Given the description of an element on the screen output the (x, y) to click on. 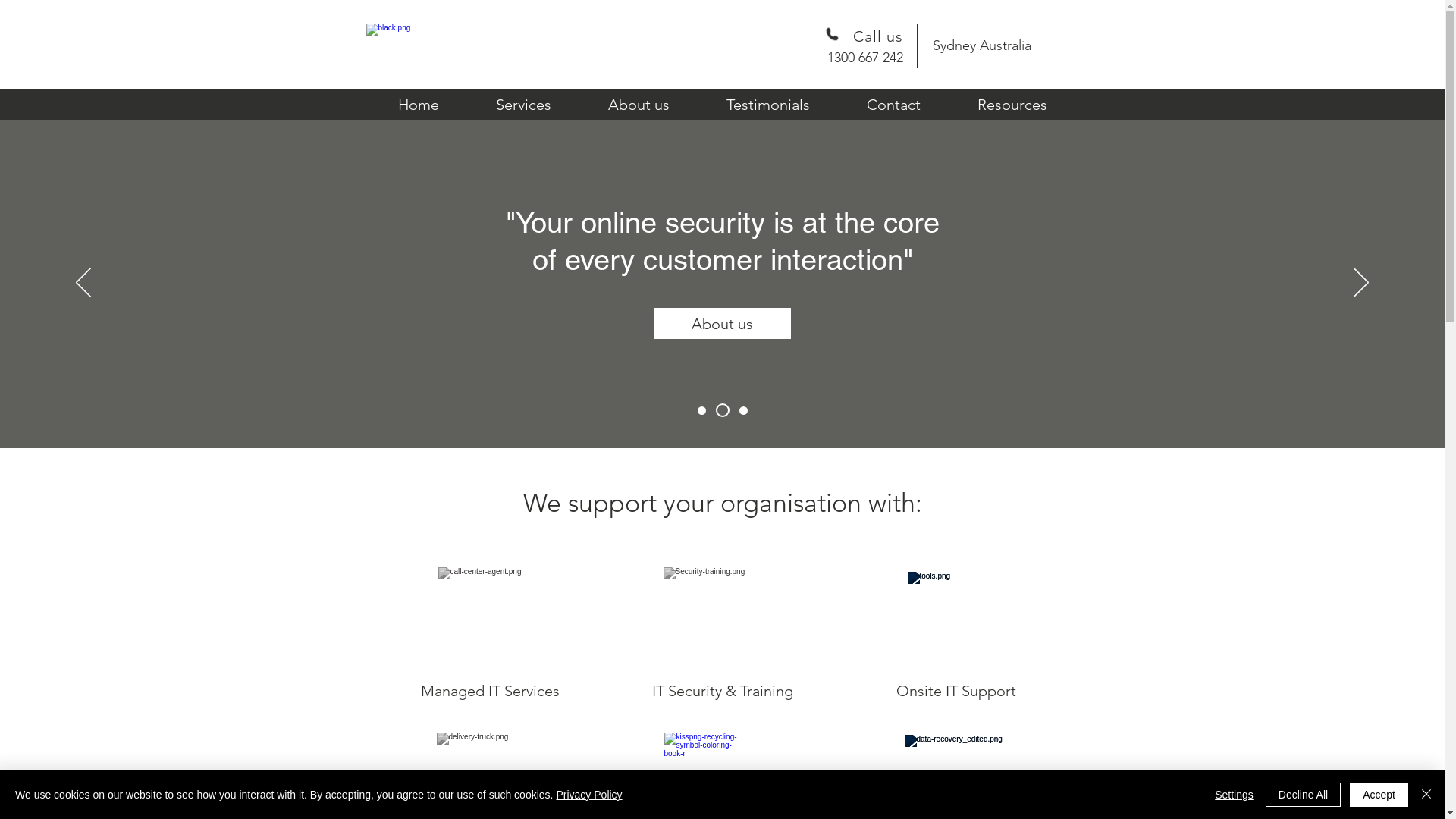
Services Element type: text (523, 104)
About us Element type: text (638, 104)
Click here for Home page Element type: hover (435, 45)
Contact Element type: text (893, 104)
Resources Element type: text (1012, 104)
Onsite IT Support Element type: text (955, 690)
Testimonials Element type: text (767, 104)
IT Security & Training Element type: text (722, 690)
Managed IT Services Element type: text (490, 690)
Privacy Policy Element type: text (588, 794)
Accept Element type: text (1378, 794)
Decline All Element type: text (1302, 794)
About us Element type: text (721, 322)
Home Element type: text (418, 104)
